Given the description of an element on the screen output the (x, y) to click on. 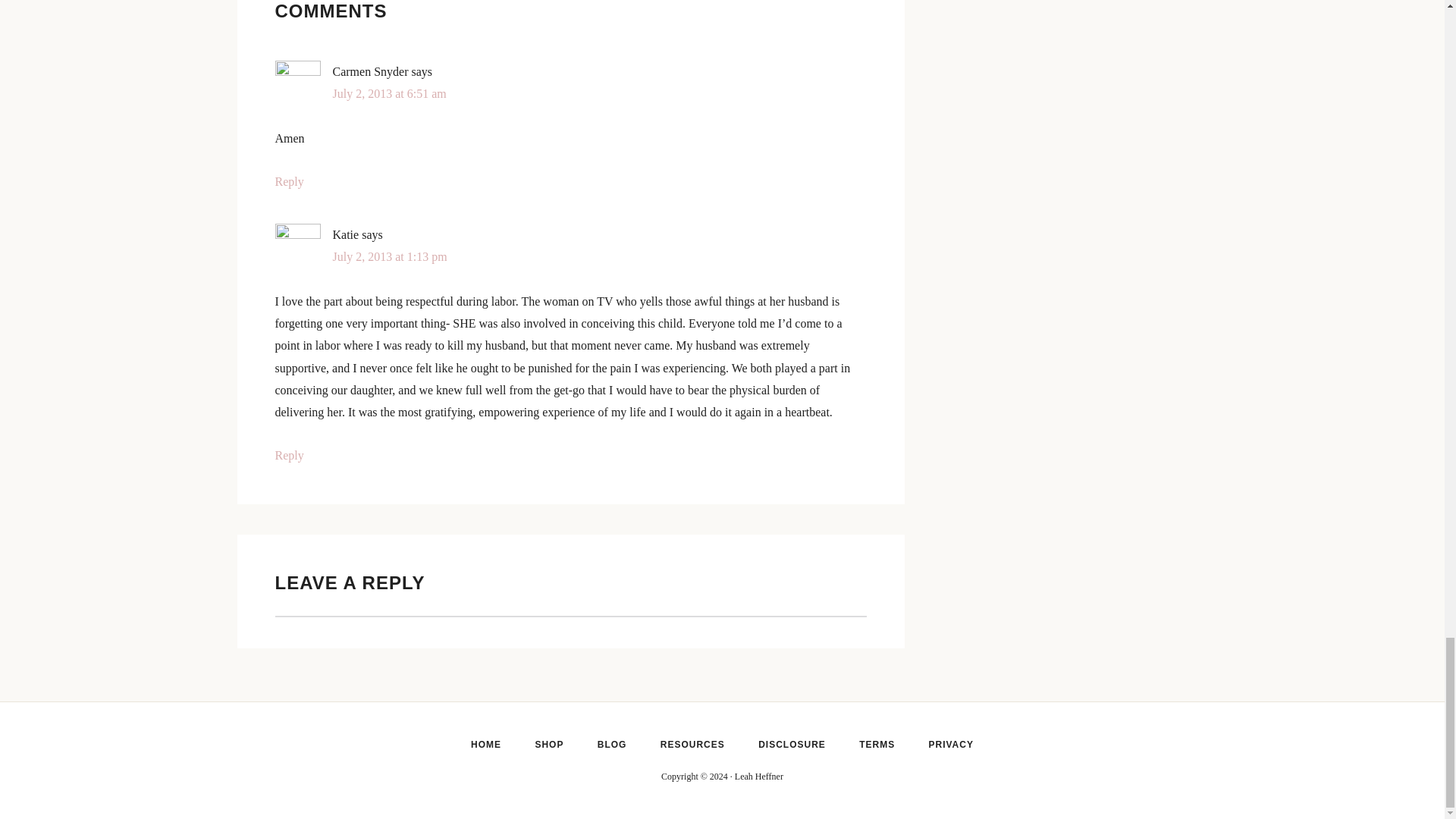
Reply (288, 181)
July 2, 2013 at 1:13 pm (388, 256)
July 2, 2013 at 6:51 am (388, 92)
Reply (288, 454)
